Given the description of an element on the screen output the (x, y) to click on. 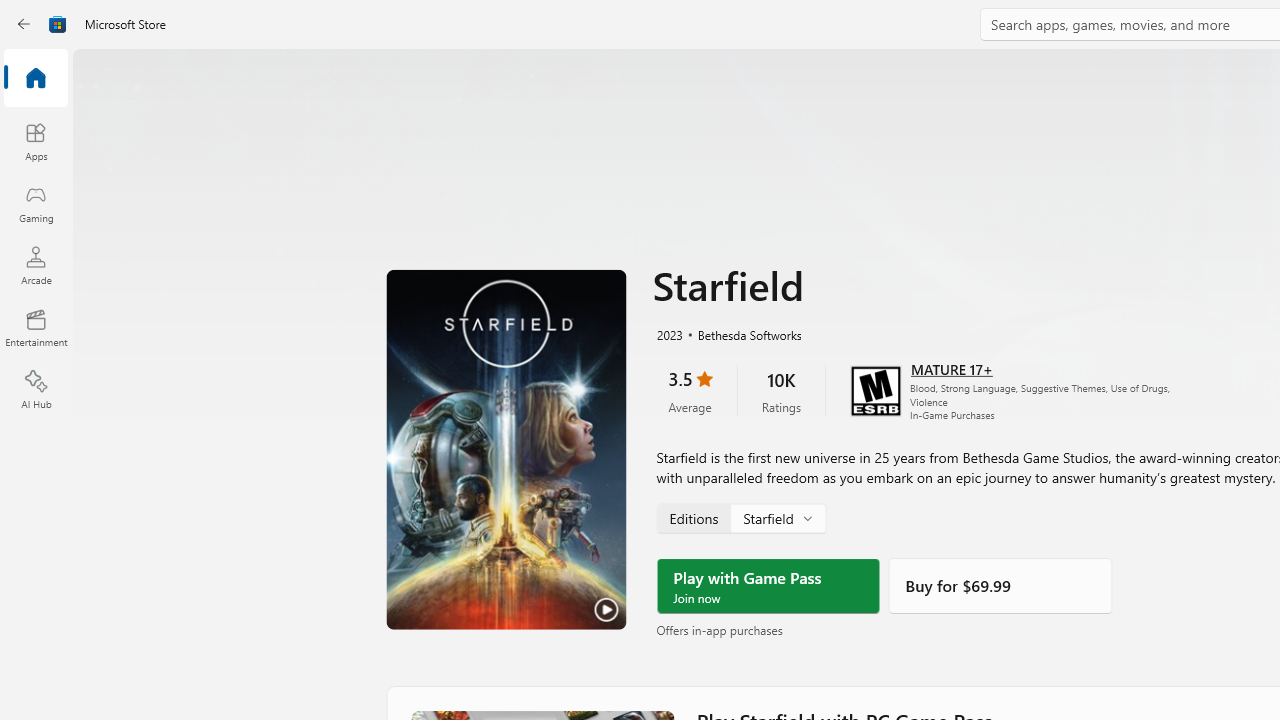
Age rating: MATURE 17+. Click for more information. (951, 367)
